Given the description of an element on the screen output the (x, y) to click on. 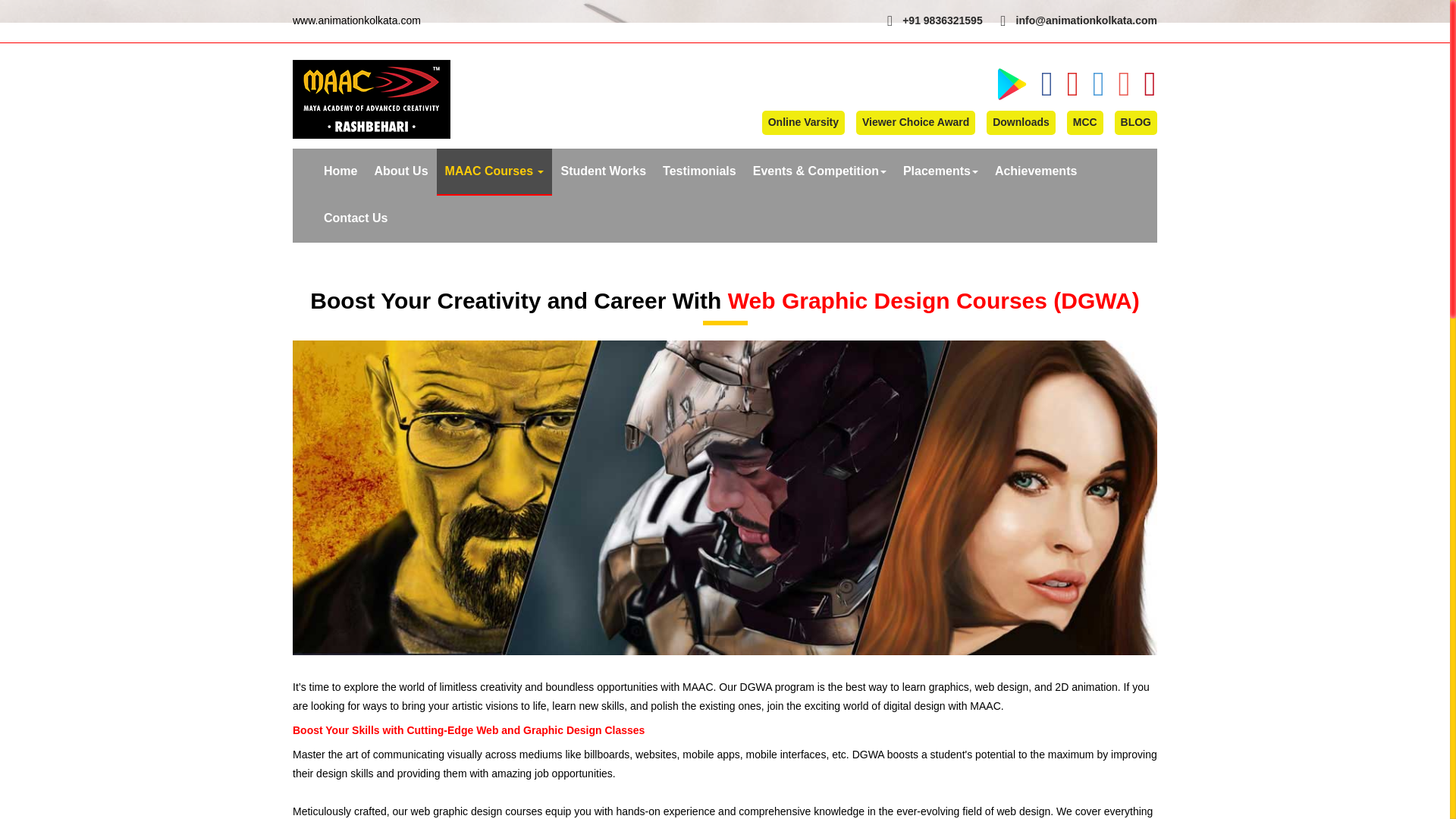
MCC (1085, 122)
Downloads (1021, 122)
Home (340, 171)
www.animationkolkata.com (356, 20)
MAAC Courses (494, 171)
BLOG (1136, 122)
Viewer Choice Award (915, 122)
About Us (400, 171)
Online Varsity (802, 122)
